Given the description of an element on the screen output the (x, y) to click on. 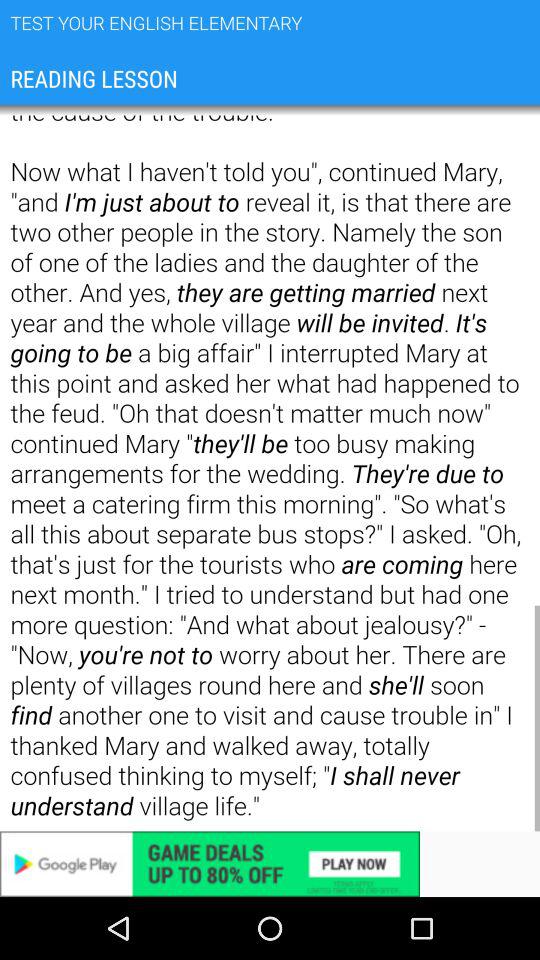
open advertisement (270, 864)
